Given the description of an element on the screen output the (x, y) to click on. 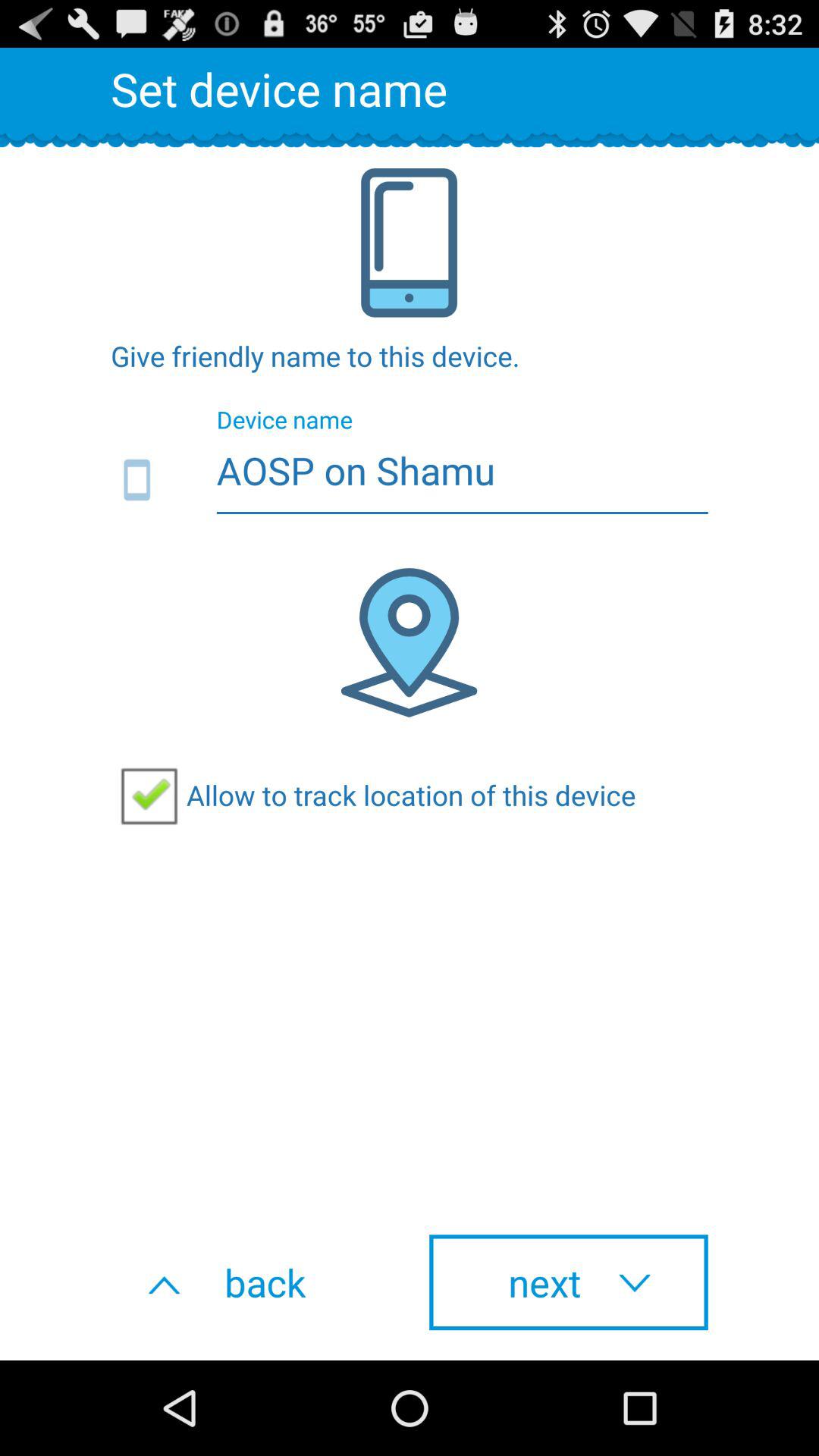
select button next to next item (249, 1282)
